Given the description of an element on the screen output the (x, y) to click on. 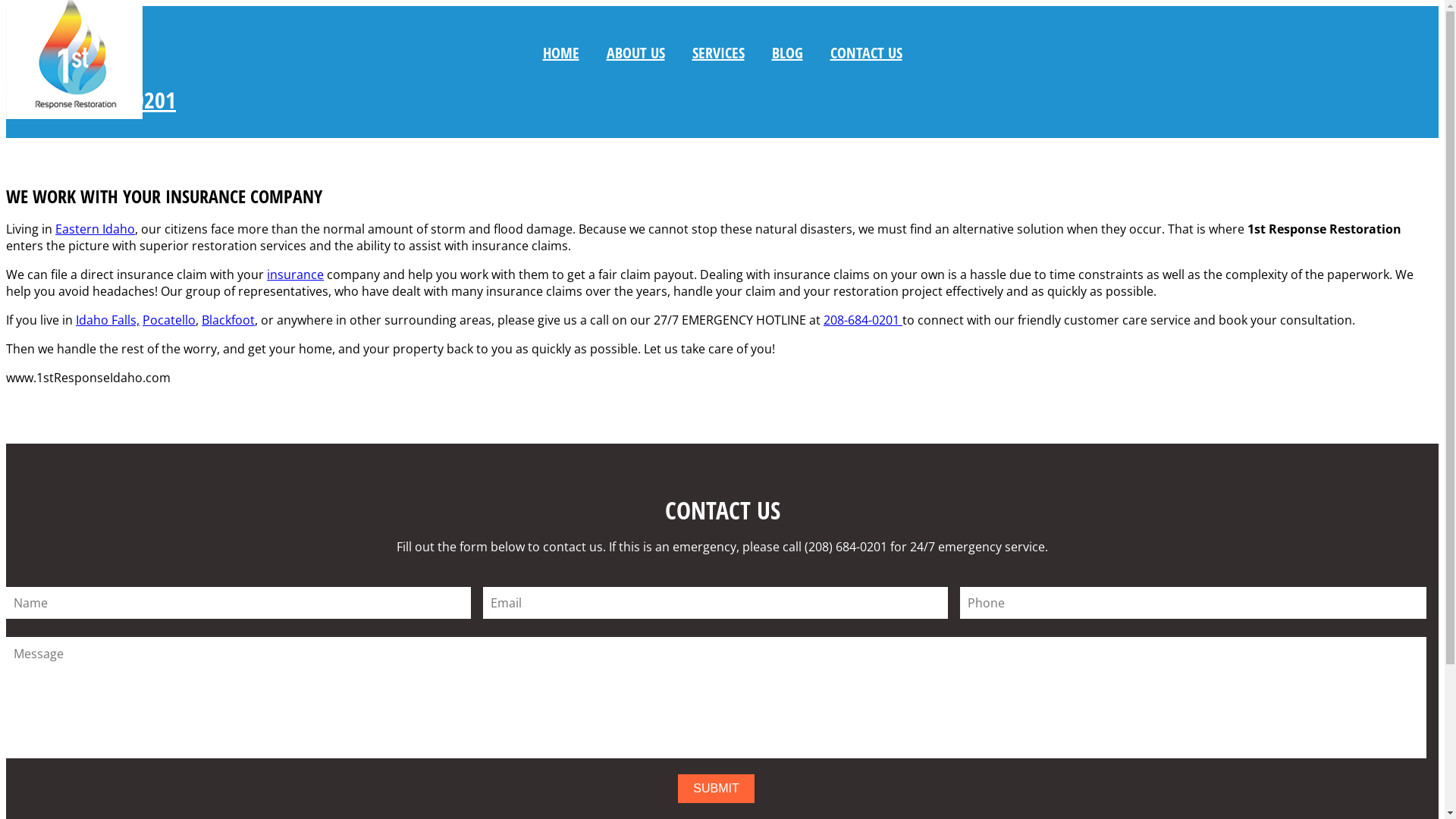
(208) 684-0201 Element type: text (90, 99)
Submit Element type: text (715, 788)
Eastern Idaho Element type: text (94, 228)
ABOUT US Element type: text (635, 52)
Blackfoot Element type: text (227, 319)
SERVICES Element type: text (717, 52)
208-684-0201 Element type: text (862, 319)
insurance Element type: text (294, 274)
Idaho Falls, Element type: text (107, 319)
BLOG Element type: text (787, 52)
Pocatello Element type: text (168, 319)
HOME Element type: text (561, 52)
CONTACT US Element type: text (865, 52)
